Given the description of an element on the screen output the (x, y) to click on. 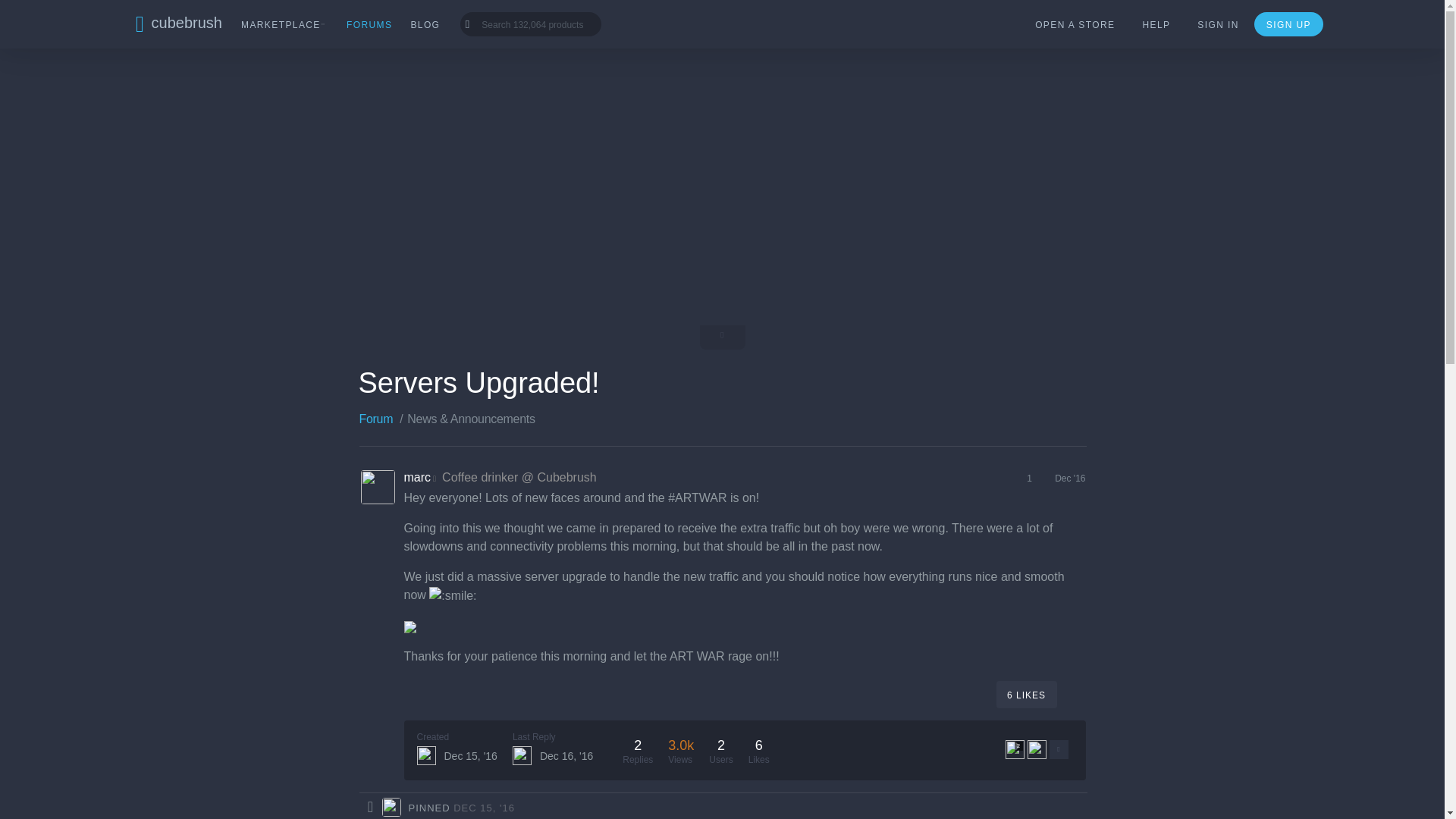
3D Models (253, 18)
Blog (423, 24)
Sign up (1288, 24)
Stock Photos (1194, 18)
2D Game Assests (644, 18)
3D Models (253, 18)
Game-ready Models (373, 18)
3D Print models (934, 18)
Game-ready Models (373, 18)
Software Brushes (512, 18)
CG Tutorials (153, 18)
Browse all (1295, 18)
Browse all (1295, 18)
cubebrush (172, 24)
3D Print models (934, 18)
